Given the description of an element on the screen output the (x, y) to click on. 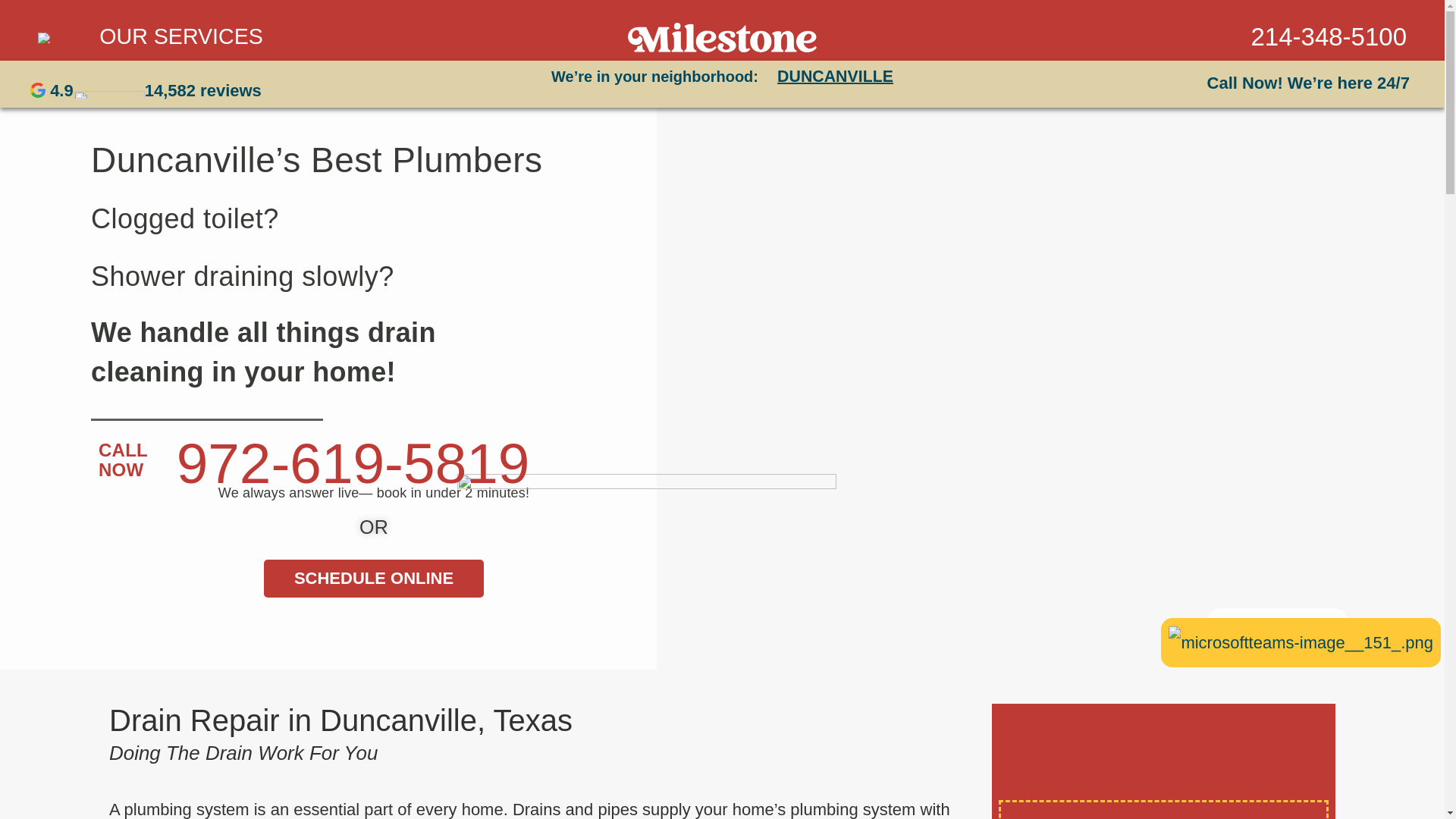
2302 113th St Suite 300, Grand Prairie, TX, US (1276, 533)
DUNCANVILLE (835, 76)
4.914,582 reviews (146, 90)
Duncanville (1277, 625)
OUR SERVICES (237, 36)
214-348-5100 (1328, 36)
SCHEDULE ONLINE (373, 578)
